Given the description of an element on the screen output the (x, y) to click on. 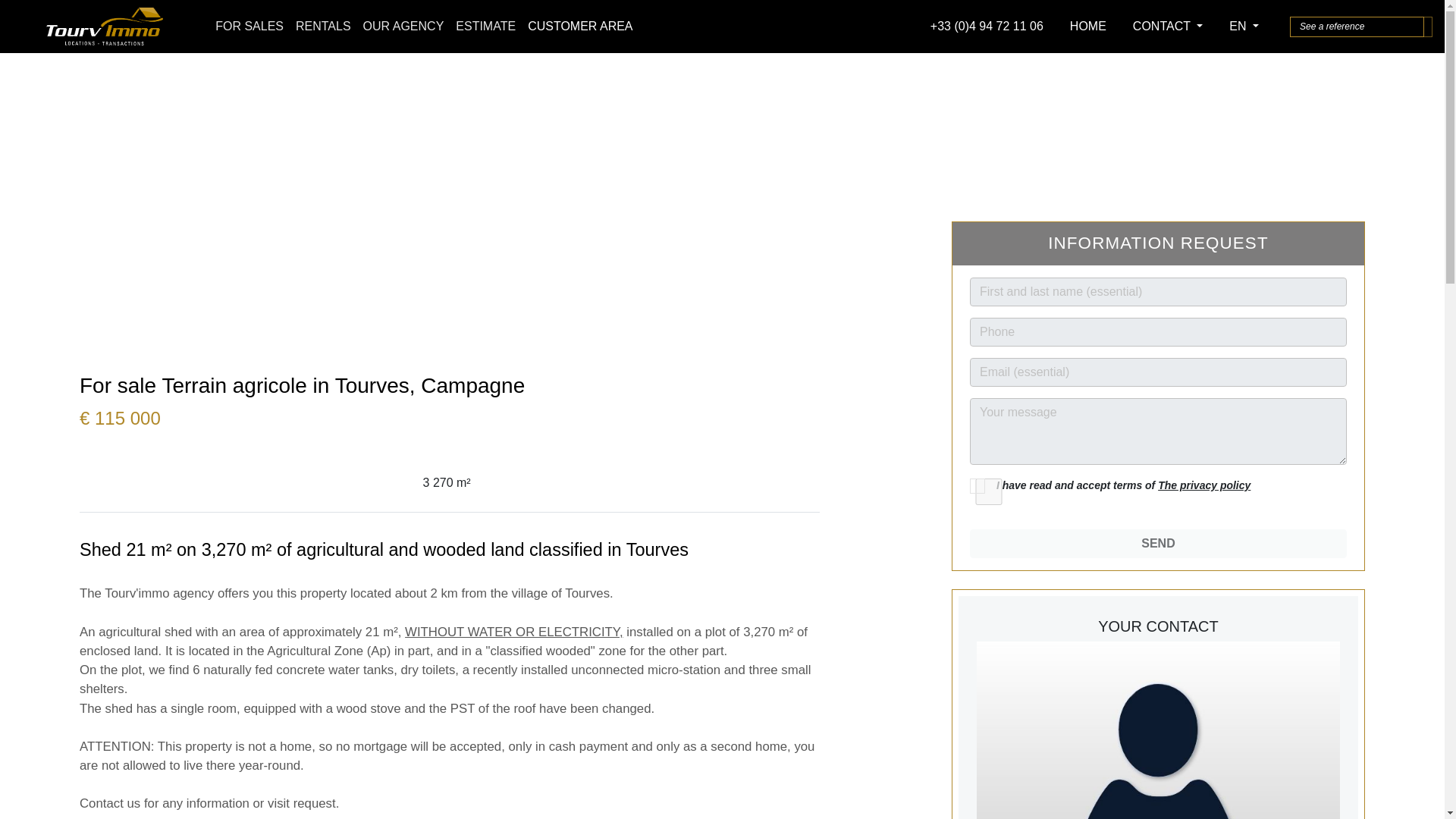
OUR AGENCY (402, 26)
RENTALS (322, 26)
on (988, 491)
EN (1249, 26)
Please enter your First and last name. (1157, 291)
ESTIMATE (485, 26)
CONTACT (1173, 26)
  Back (22, 71)
HOME (1093, 26)
FOR SALES (249, 26)
